Given the description of an element on the screen output the (x, y) to click on. 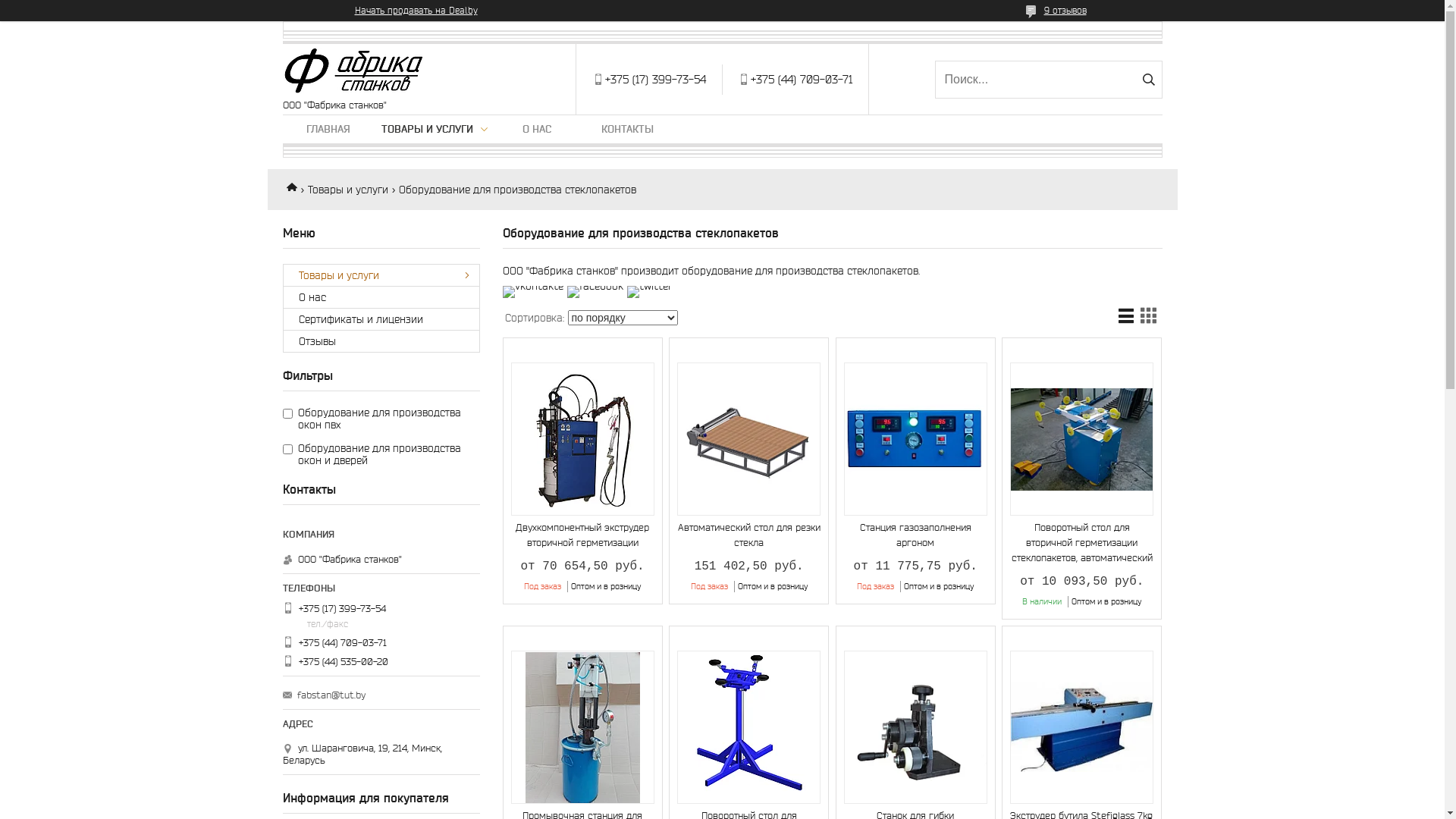
fabstan@tut.by Element type: text (331, 695)
facebook Element type: hover (595, 285)
twitter Element type: hover (648, 285)
